Given the description of an element on the screen output the (x, y) to click on. 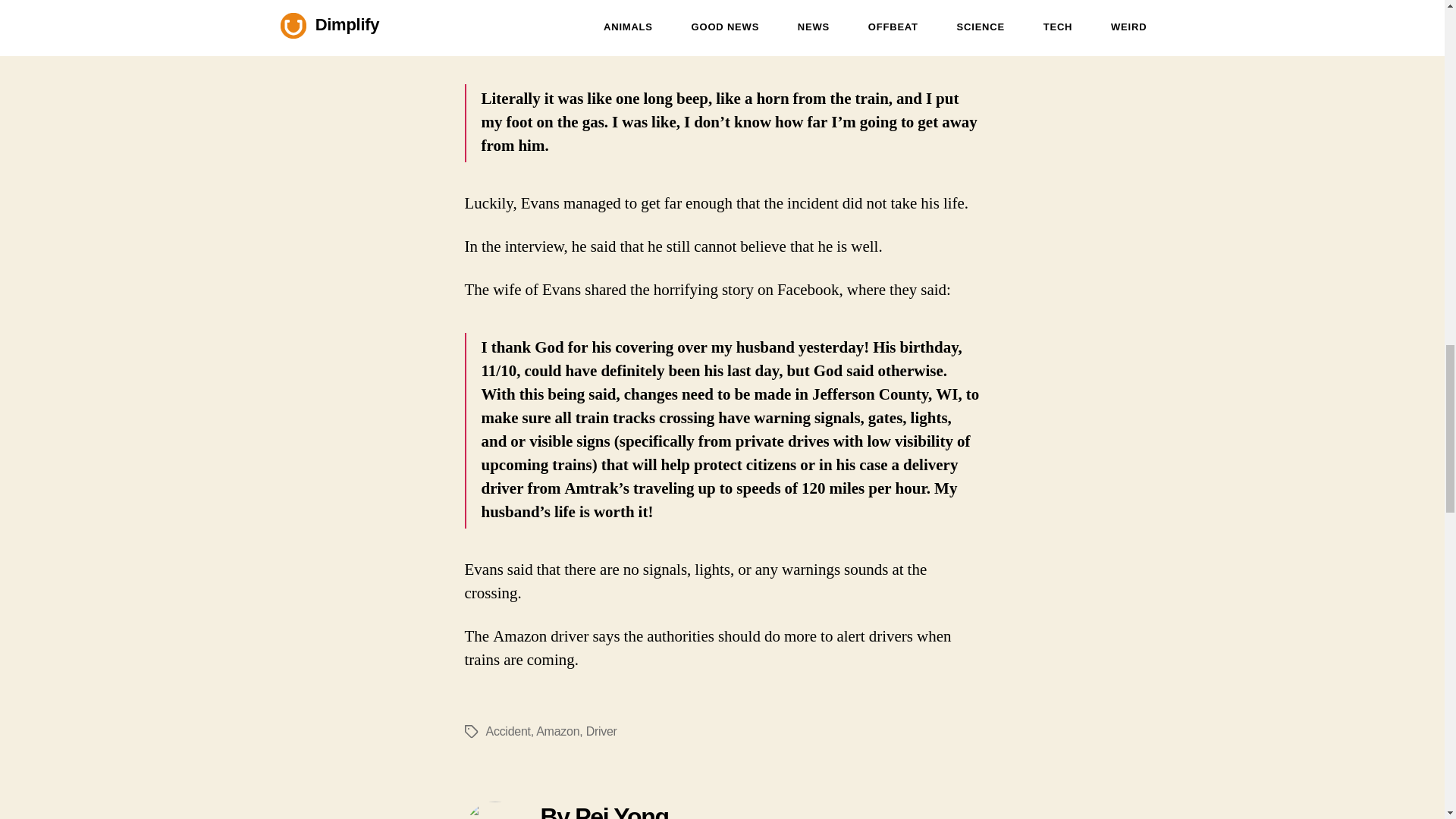
Amazon (557, 730)
Accident (506, 730)
Driver (601, 730)
